Given the description of an element on the screen output the (x, y) to click on. 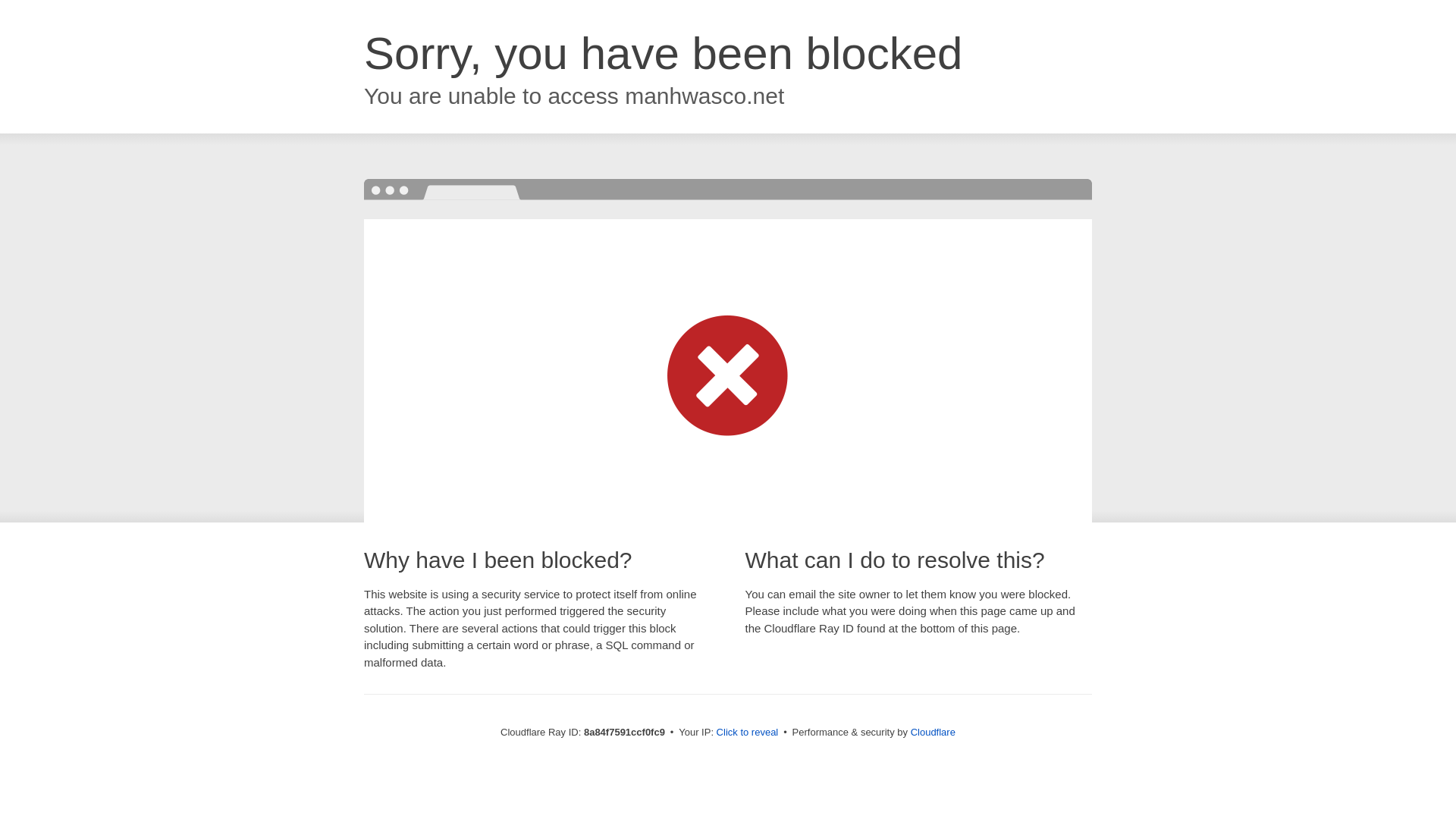
Click to reveal (747, 732)
Cloudflare (933, 731)
